Given the description of an element on the screen output the (x, y) to click on. 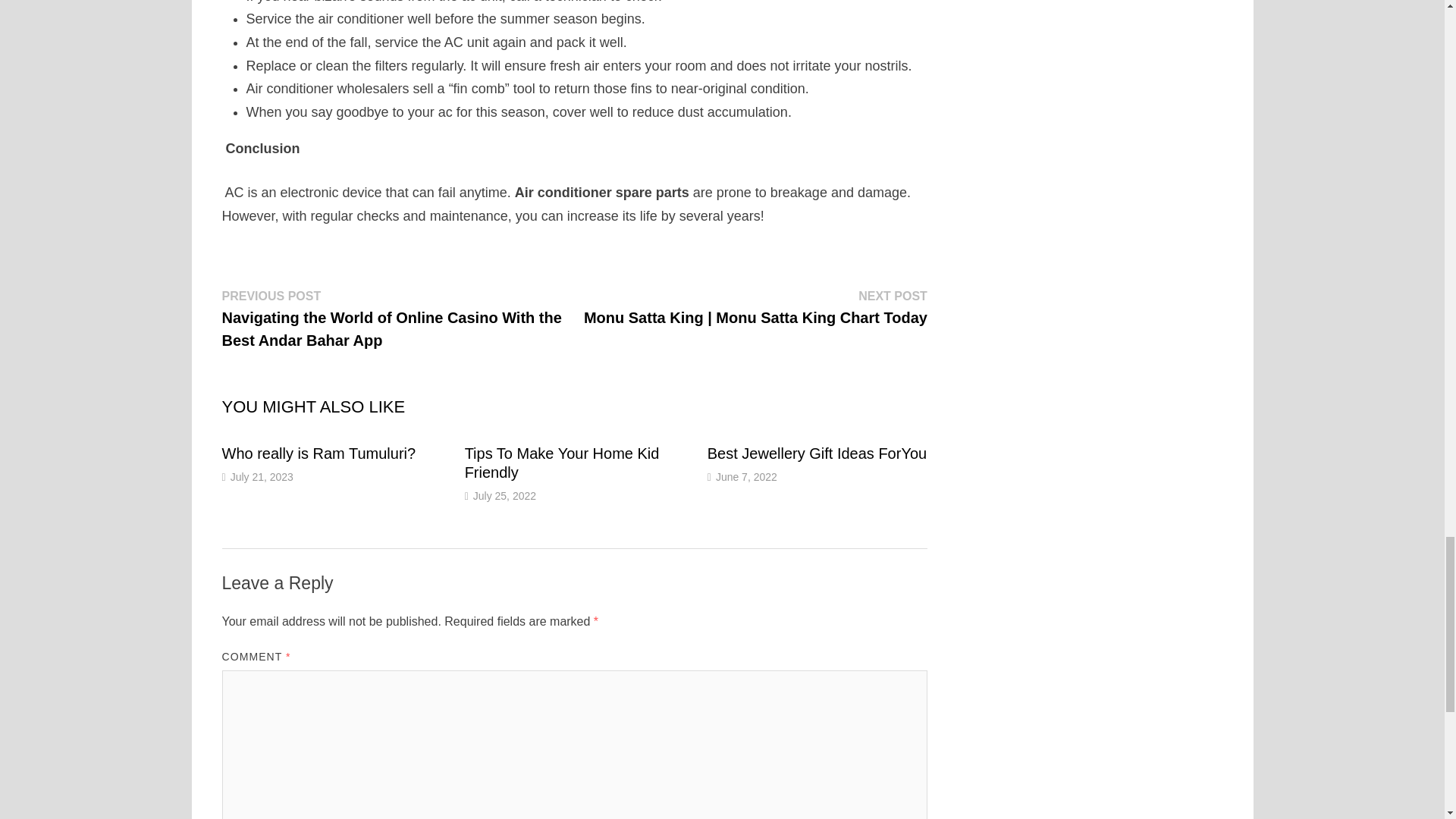
Who really is Ram Tumuluri? (317, 453)
Who really is Ram Tumuluri? (317, 453)
Tips To Make Your Home Kid Friendly (561, 462)
July 21, 2023 (262, 476)
Best Jewellery Gift Ideas ForYou (816, 453)
